Given the description of an element on the screen output the (x, y) to click on. 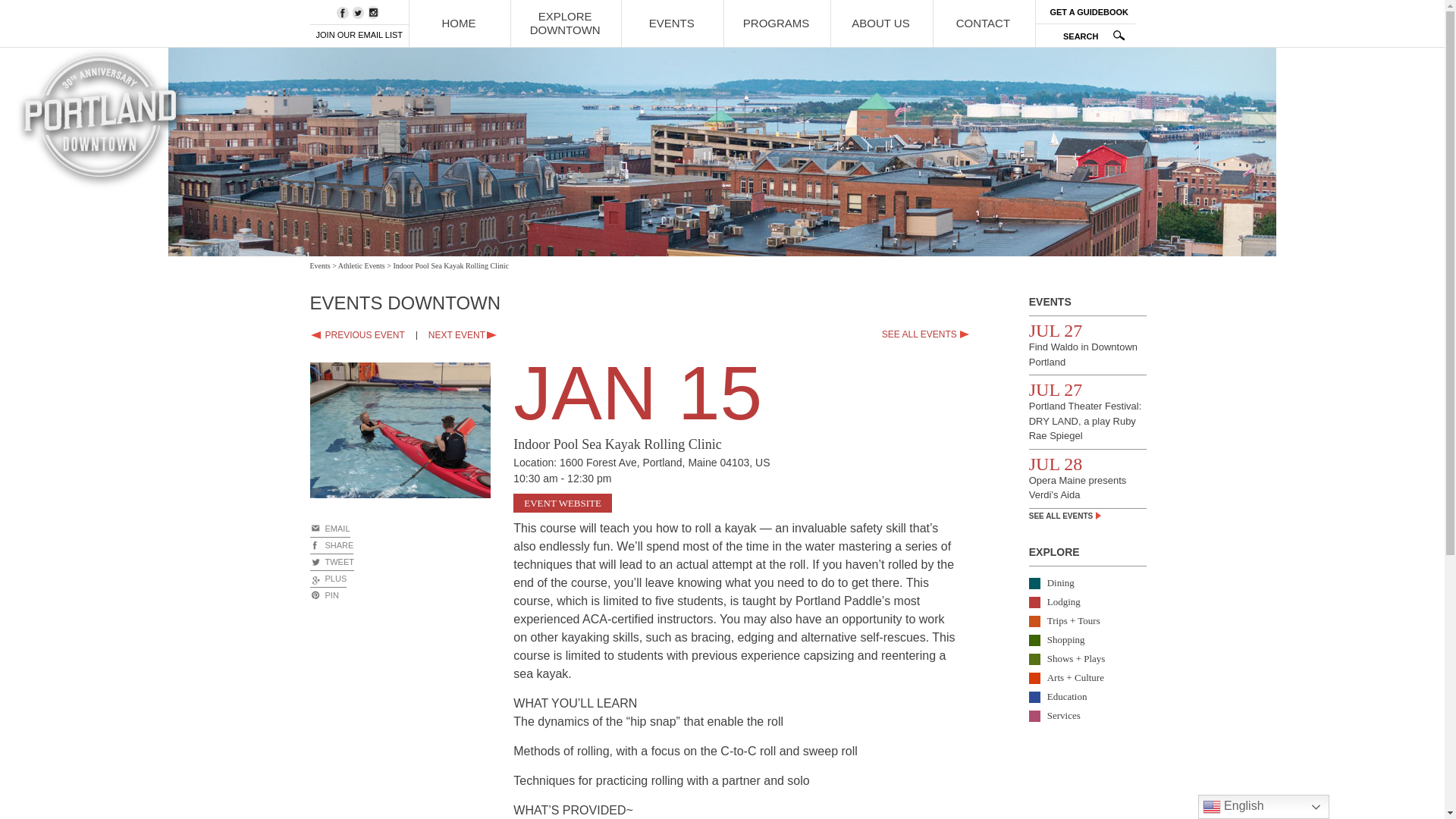
Twitter (330, 562)
Go to the Athletic Events Event Category archives. (361, 265)
Plus (327, 579)
Directory (1089, 11)
HOME (458, 23)
Facebook (342, 11)
Email (328, 528)
twitter (358, 11)
JOIN OUR EMAIL LIST (358, 32)
EVENTS (670, 23)
Email (322, 595)
Search (1089, 36)
Facebook (330, 545)
EXPLORE DOWNTOWN (564, 23)
Event website (562, 503)
